Given the description of an element on the screen output the (x, y) to click on. 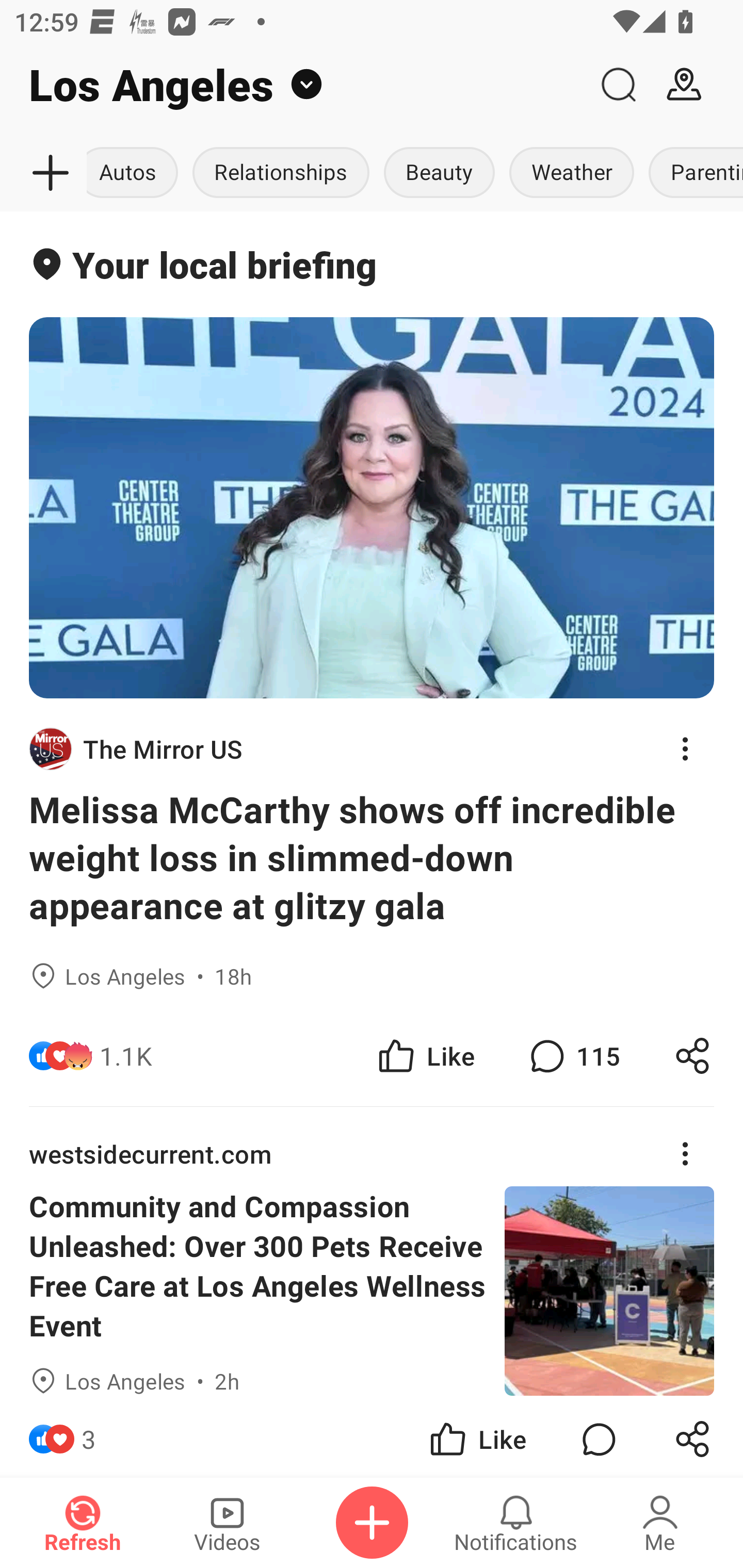
Los Angeles (292, 84)
Autos (135, 172)
Relationships (280, 172)
Beauty (439, 172)
Weather (571, 172)
Parenting (692, 172)
1.1K (125, 1055)
Like (425, 1055)
115 (572, 1055)
3 (88, 1436)
Like (476, 1436)
Videos (227, 1522)
Notifications (516, 1522)
Me (659, 1522)
